Given the description of an element on the screen output the (x, y) to click on. 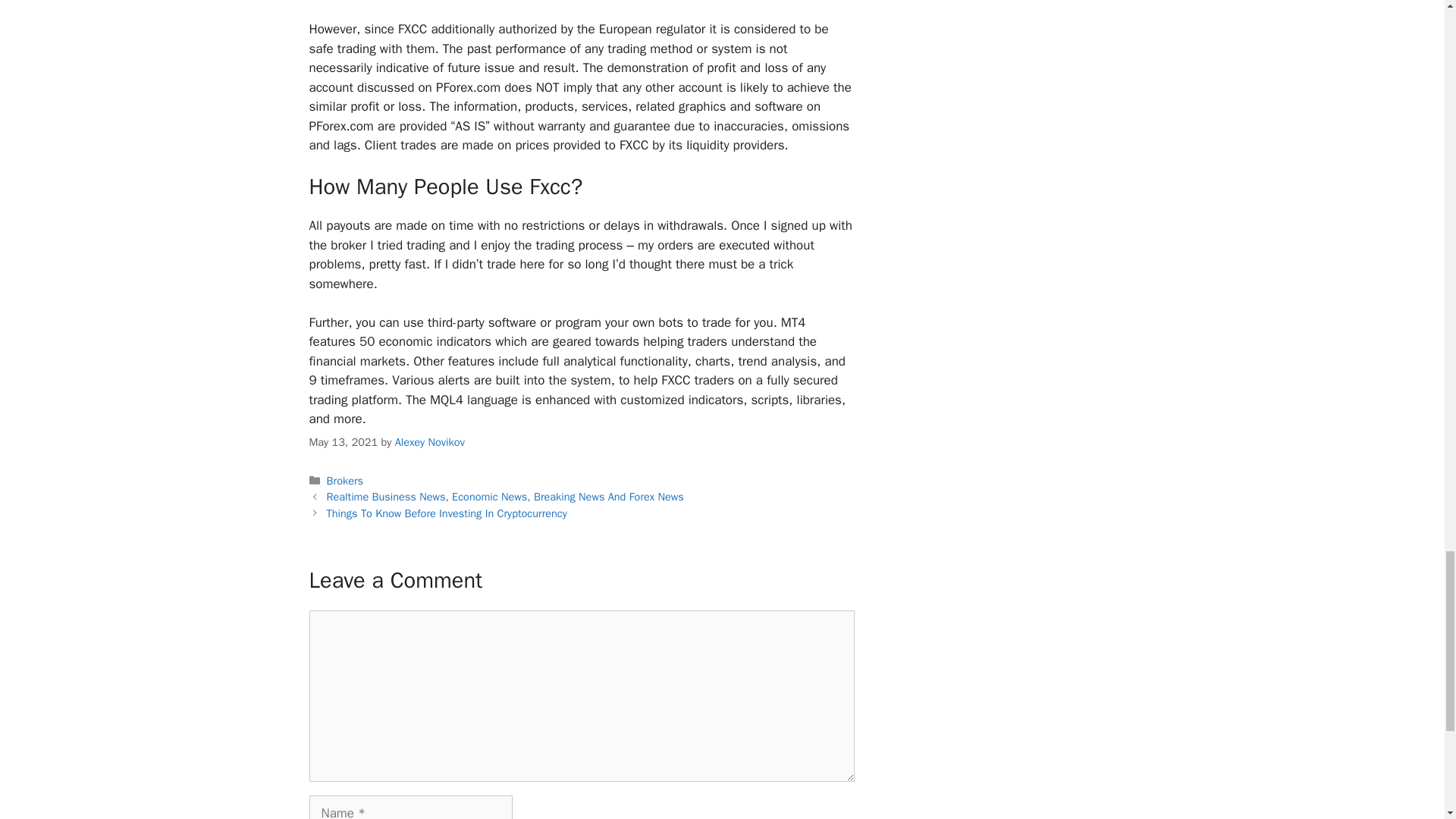
Next (446, 513)
View all posts by Alexey Novikov (429, 441)
Alexey Novikov (429, 441)
Brokers (344, 480)
Things To Know Before Investing In Cryptocurrency (446, 513)
Previous (505, 496)
